Given the description of an element on the screen output the (x, y) to click on. 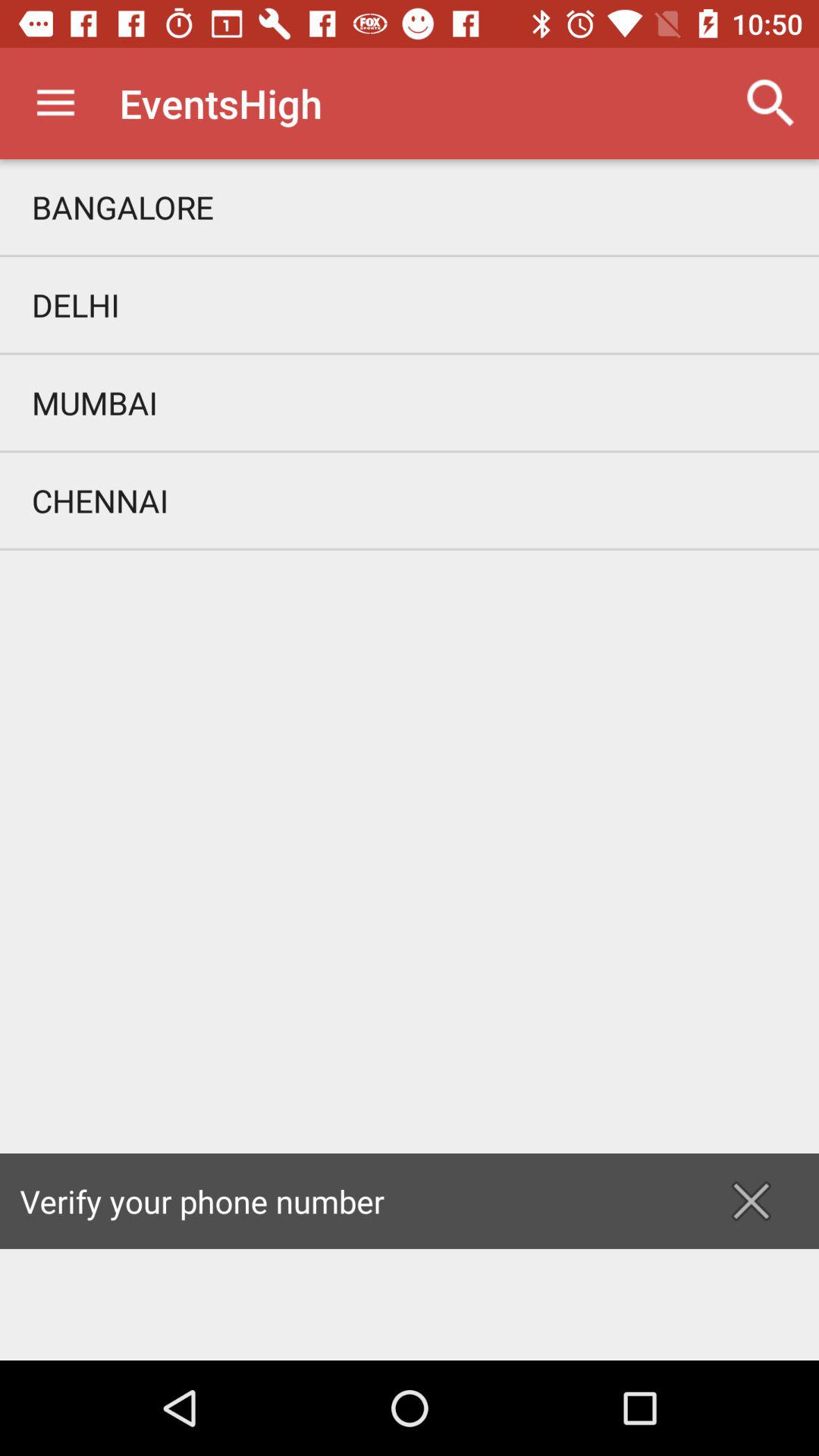
click delhi item (409, 304)
